Given the description of an element on the screen output the (x, y) to click on. 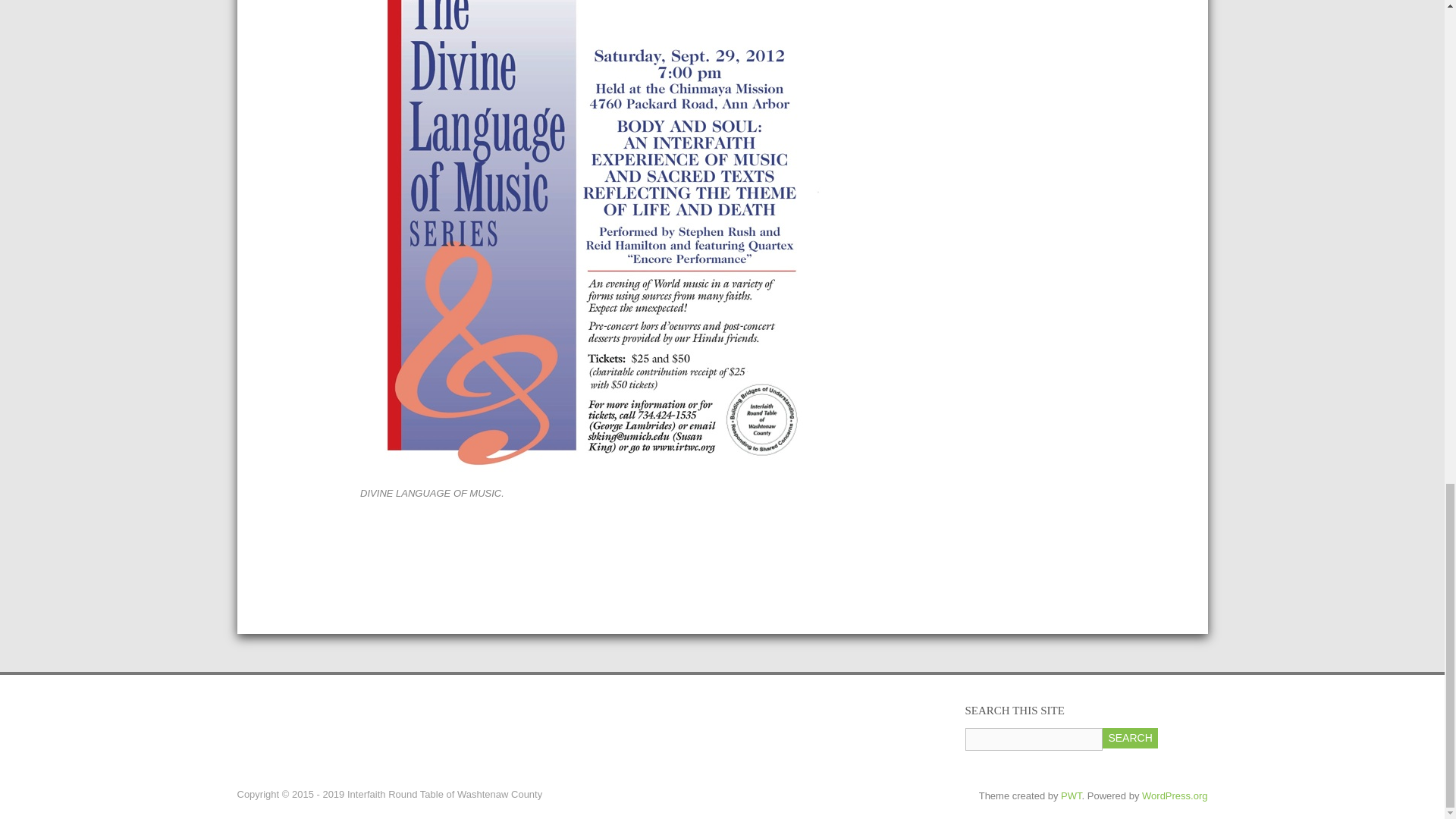
Search (1129, 738)
